Given the description of an element on the screen output the (x, y) to click on. 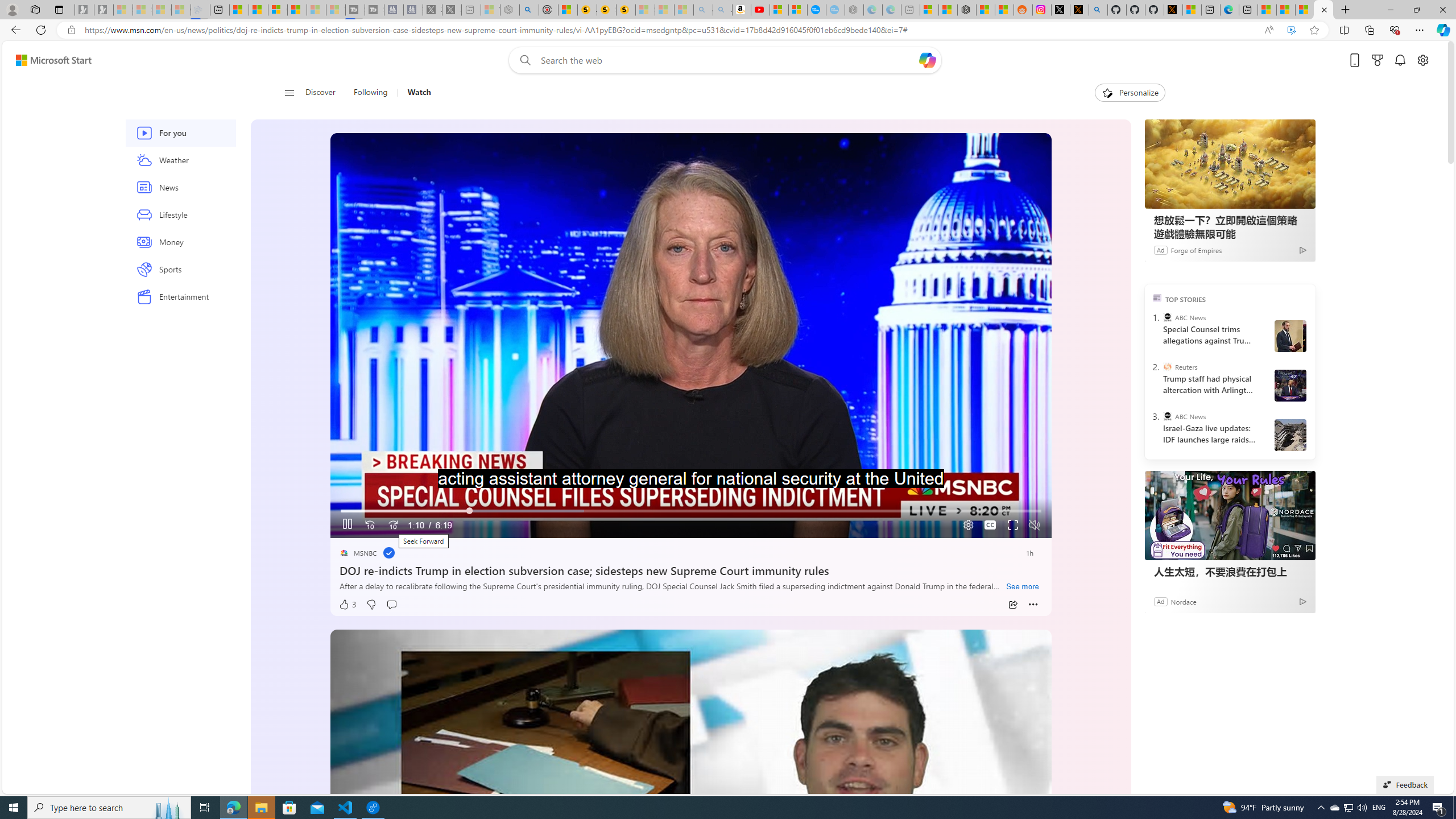
Skip to content (49, 59)
Amazon Echo Dot PNG - Search Images - Sleeping (721, 9)
ABC News (1167, 415)
Wildlife - MSN - Sleeping (490, 9)
